Given the description of an element on the screen output the (x, y) to click on. 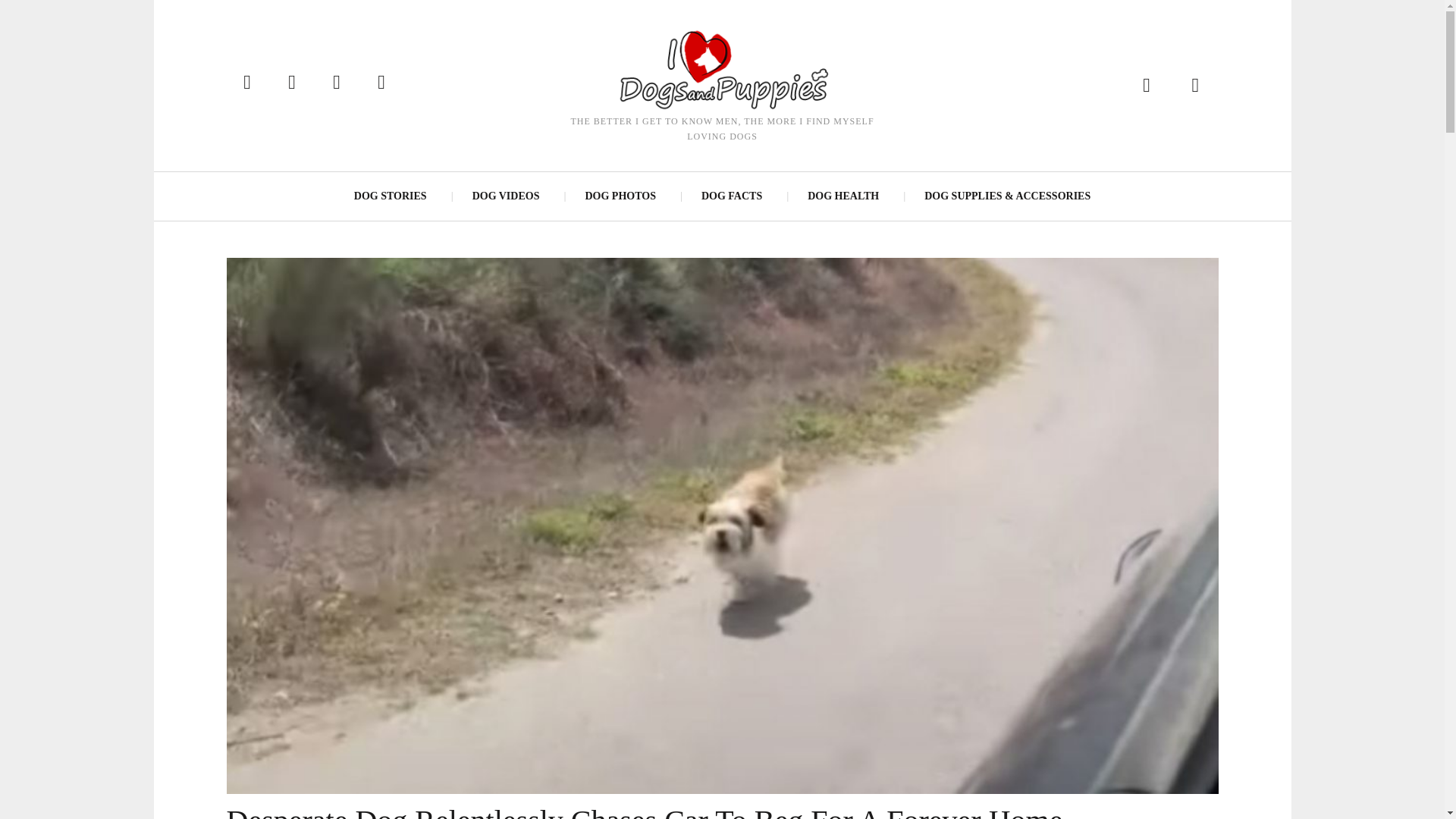
DOG VIDEOS (505, 195)
ILoveDogsAndPuppies (721, 68)
DOG FACTS (731, 195)
DOG STORIES (390, 195)
DOG PHOTOS (619, 195)
DOG HEALTH (842, 195)
